Given the description of an element on the screen output the (x, y) to click on. 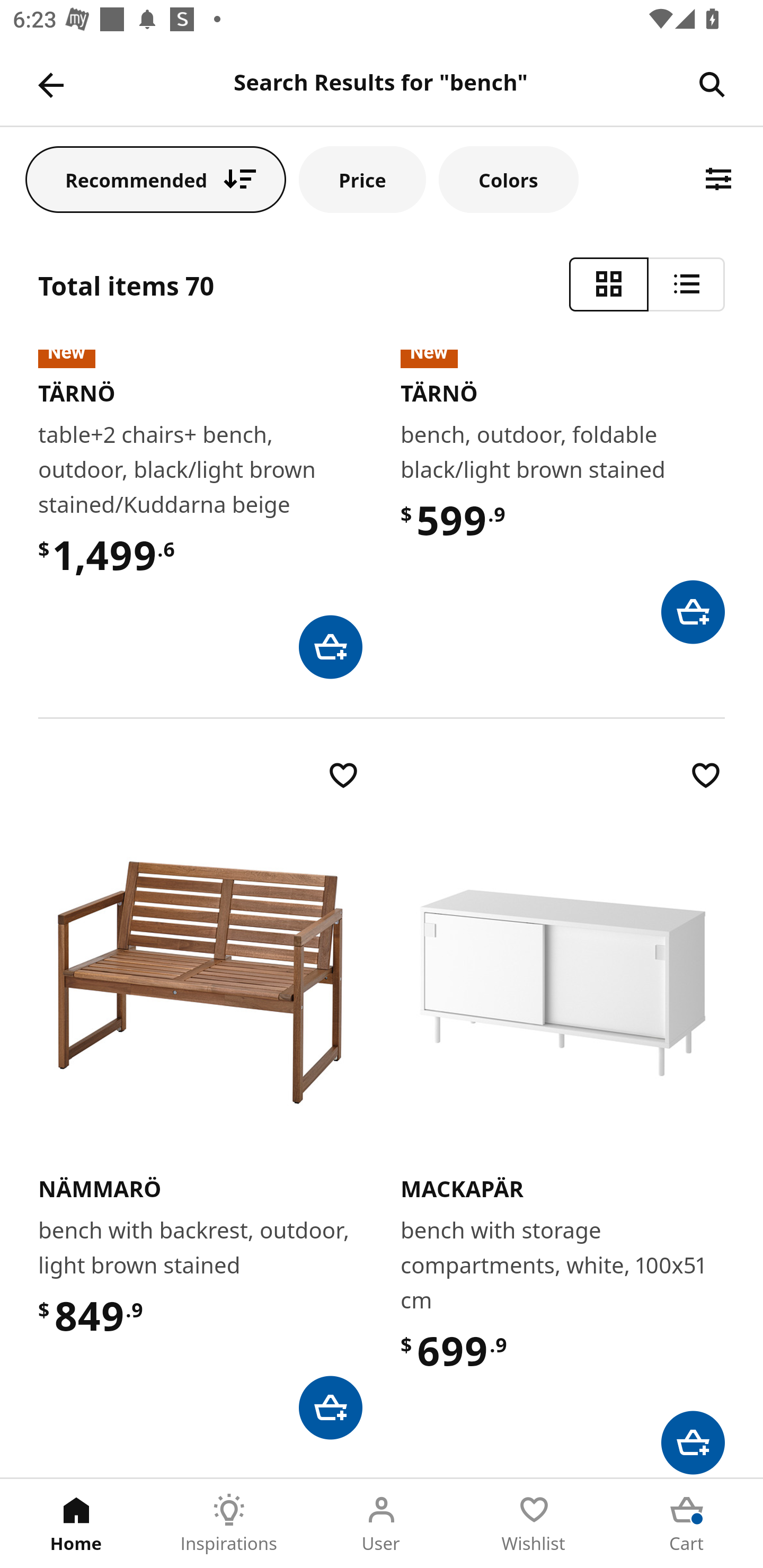
Recommended (155, 179)
Price (362, 179)
Colors (508, 179)
Home
Tab 1 of 5 (76, 1522)
Inspirations
Tab 2 of 5 (228, 1522)
User
Tab 3 of 5 (381, 1522)
Wishlist
Tab 4 of 5 (533, 1522)
Cart
Tab 5 of 5 (686, 1522)
